Given the description of an element on the screen output the (x, y) to click on. 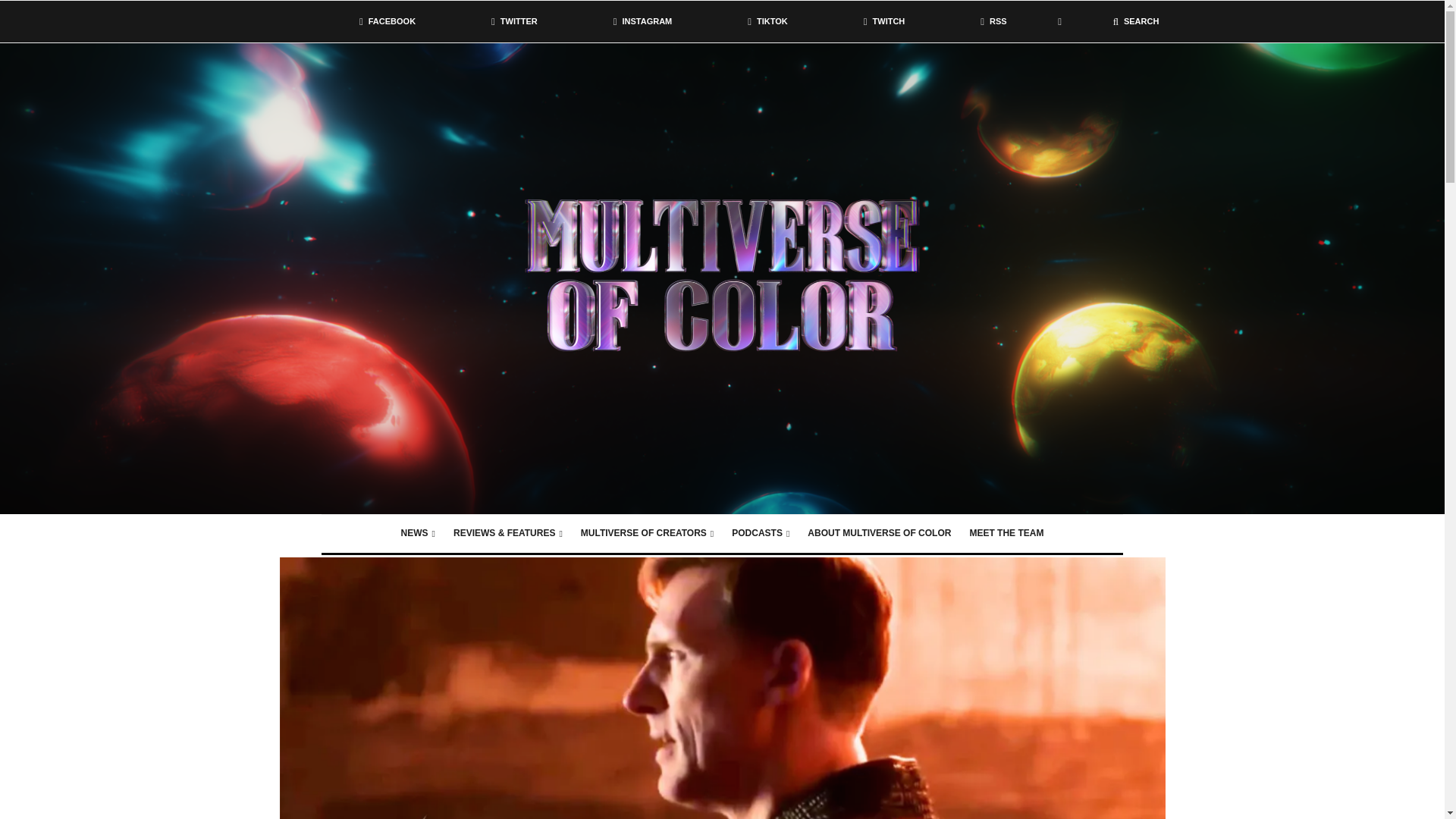
TWITTER (513, 21)
TIKTOK (767, 21)
NEWS (417, 533)
TWITCH (884, 21)
SEARCH (1135, 21)
INSTAGRAM (642, 21)
FACEBOOK (386, 21)
RSS (992, 21)
